Given the description of an element on the screen output the (x, y) to click on. 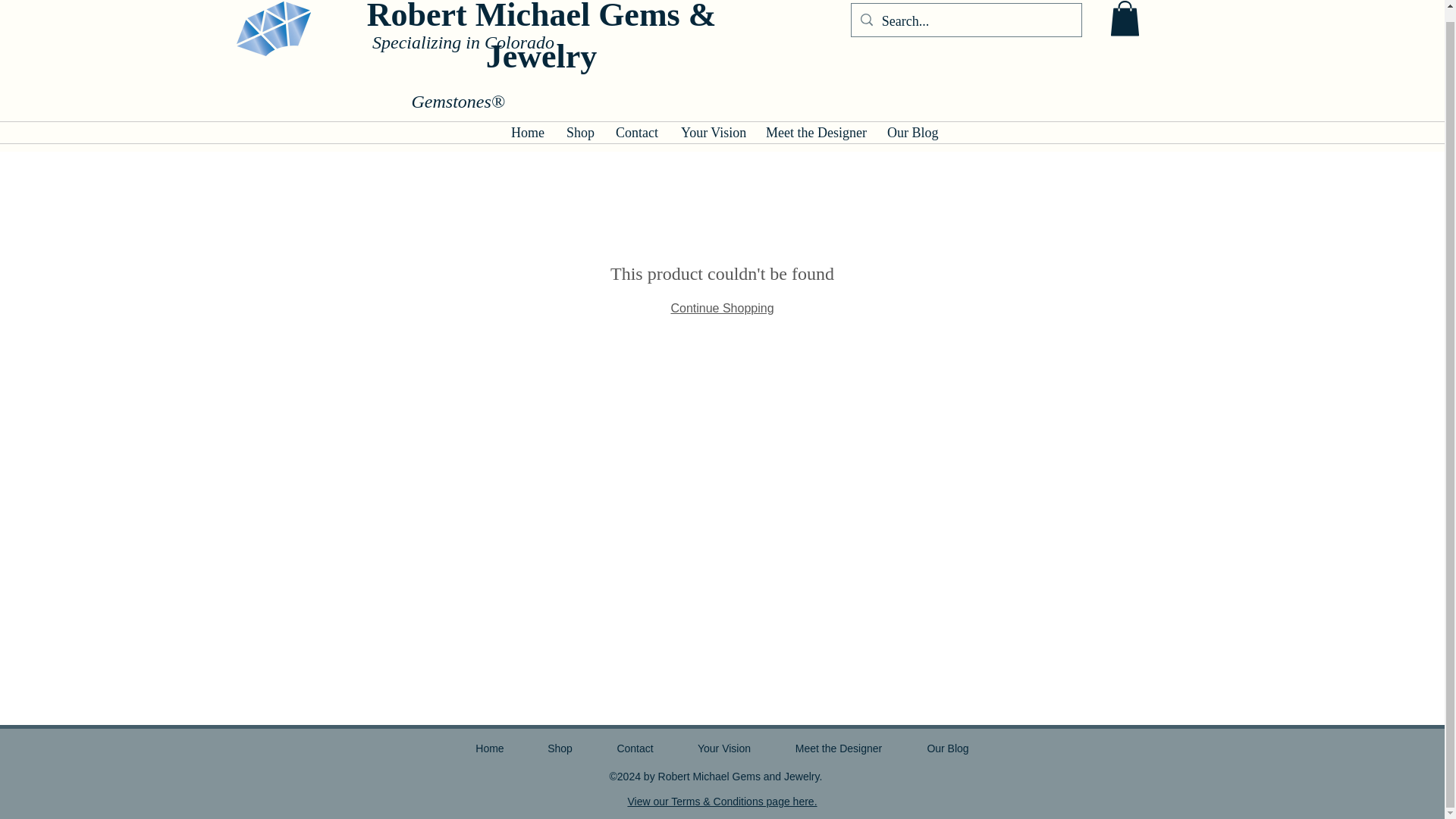
Meet the Designer (815, 132)
Your Vision (725, 748)
Shop (579, 132)
Continue Shopping (721, 308)
Home (526, 132)
Contact (635, 748)
Meet the Designer (837, 748)
Home (488, 748)
Shop (559, 748)
Contact (636, 132)
